Given the description of an element on the screen output the (x, y) to click on. 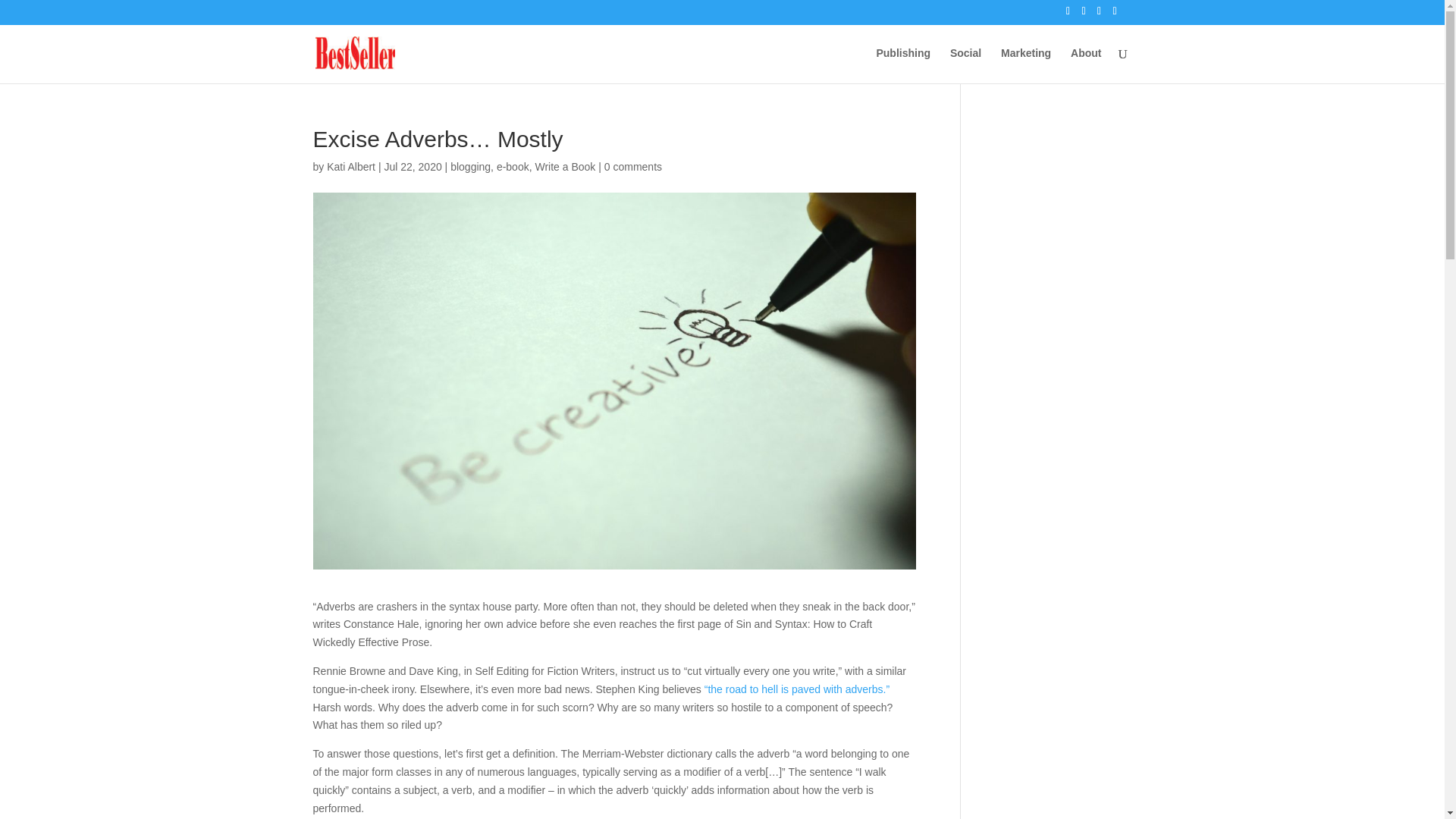
e-book (512, 166)
Publishing (903, 65)
Kati Albert (350, 166)
Write a Book (564, 166)
0 comments (633, 166)
blogging (469, 166)
Marketing (1026, 65)
Posts by Kati Albert (350, 166)
